Given the description of an element on the screen output the (x, y) to click on. 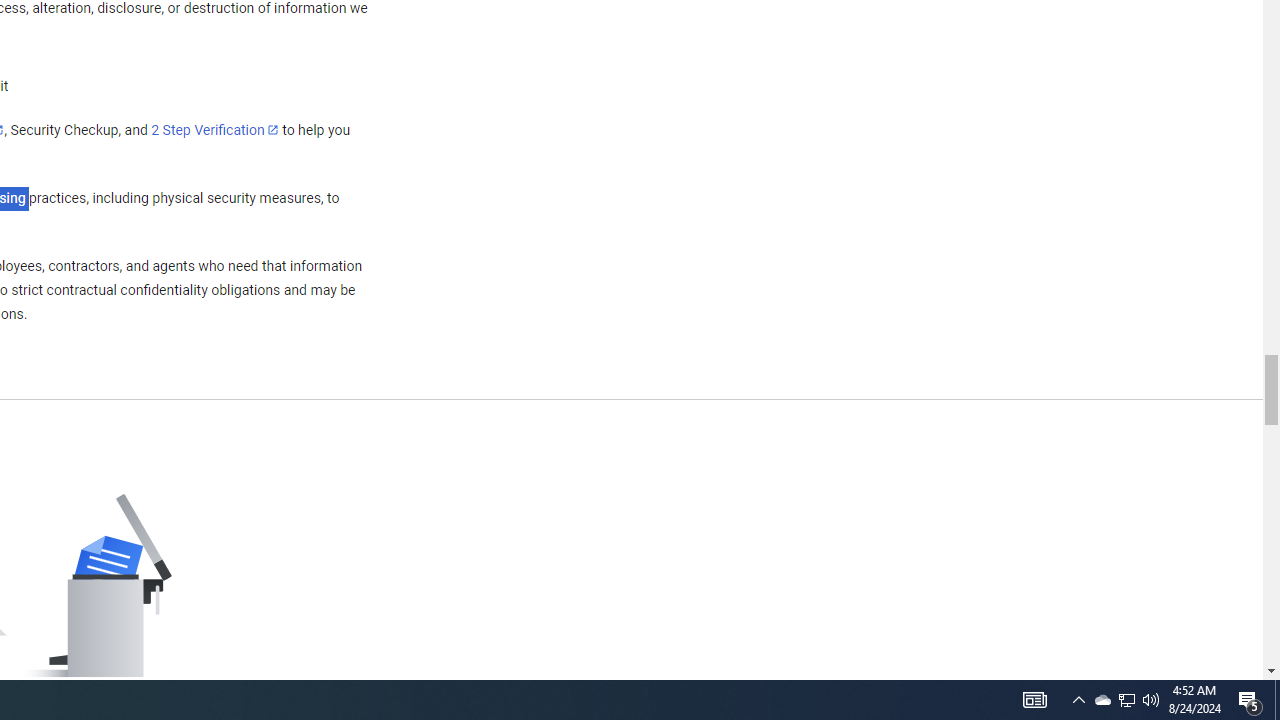
2 Step Verification (215, 129)
